Given the description of an element on the screen output the (x, y) to click on. 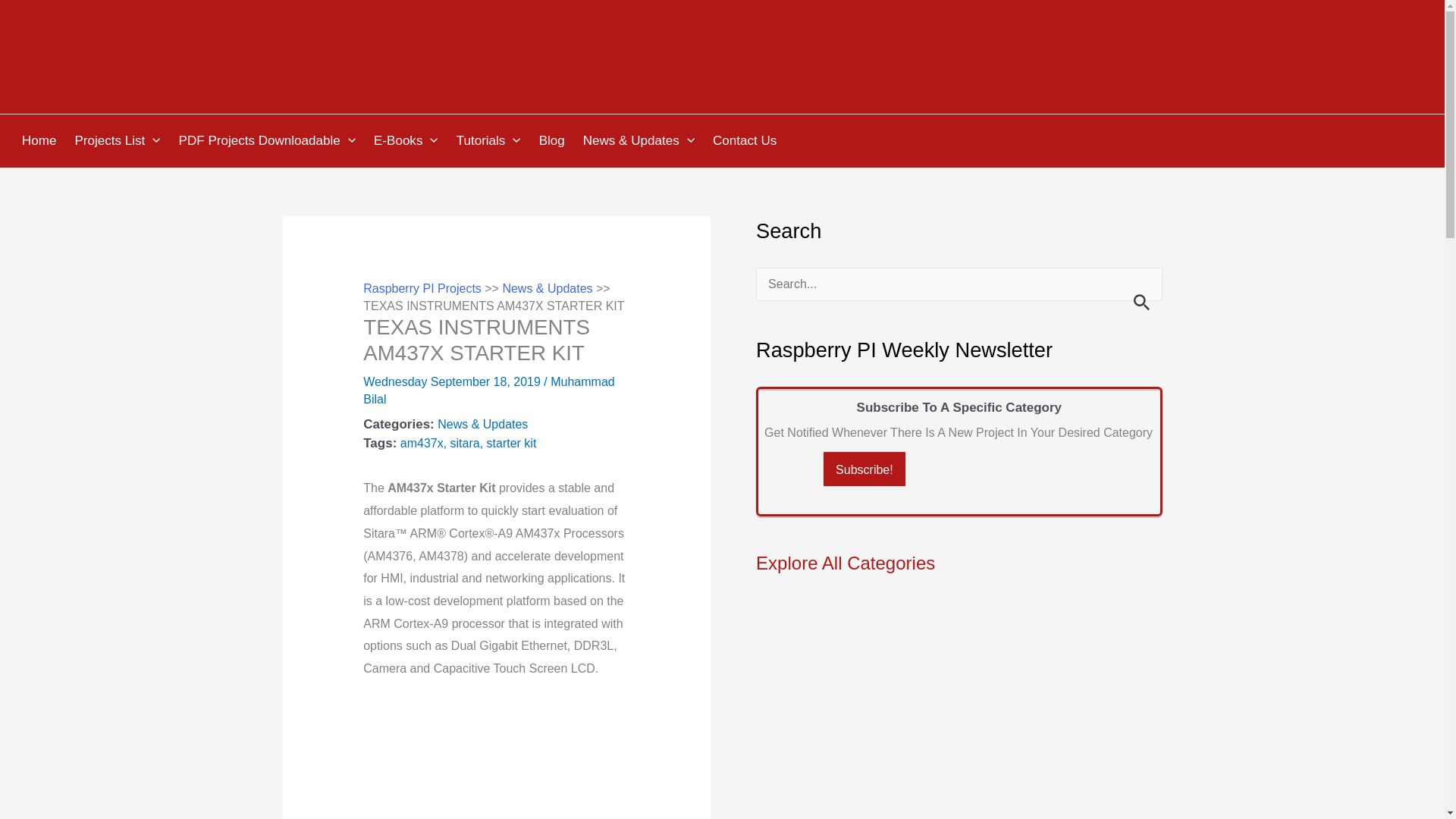
Raspberry Pi Tutorials (490, 141)
PDF Projects Downloadable (268, 141)
Tutorials (490, 141)
Go to Raspberry PI Projects. (421, 287)
Raspberry Pi Complete Project List in PDF (268, 141)
Blog (554, 141)
E-Books (407, 141)
Home (40, 141)
Contact Us (746, 141)
Projects List (118, 141)
